Given the description of an element on the screen output the (x, y) to click on. 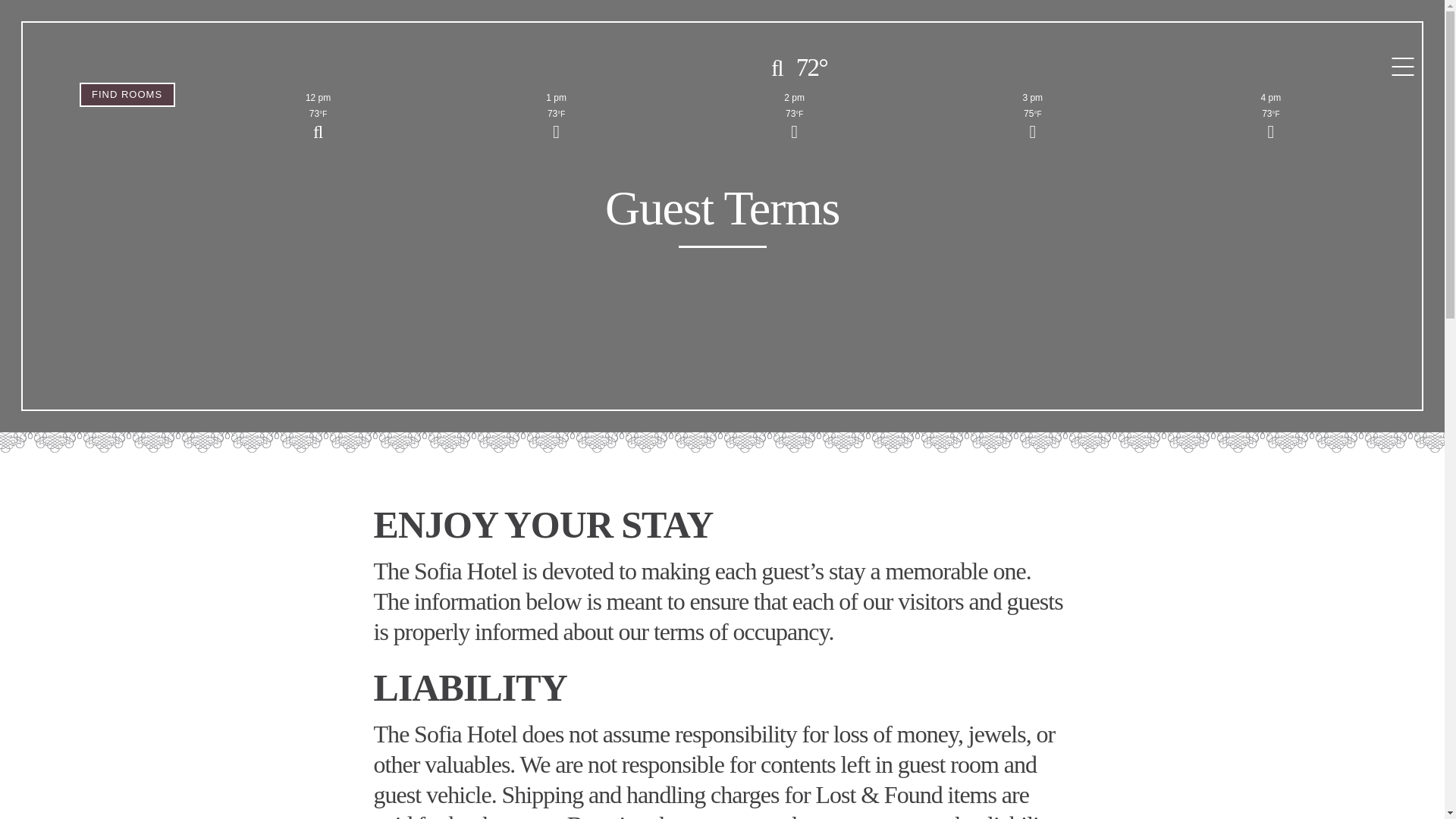
Mostly Sunny (556, 125)
Mostly Sunny (1270, 125)
Mostly Sunny (1032, 125)
Find Rooms (127, 94)
FIND ROOMS (127, 94)
Mostly Sunny (794, 125)
Partly Cloudy (318, 125)
